Given the description of an element on the screen output the (x, y) to click on. 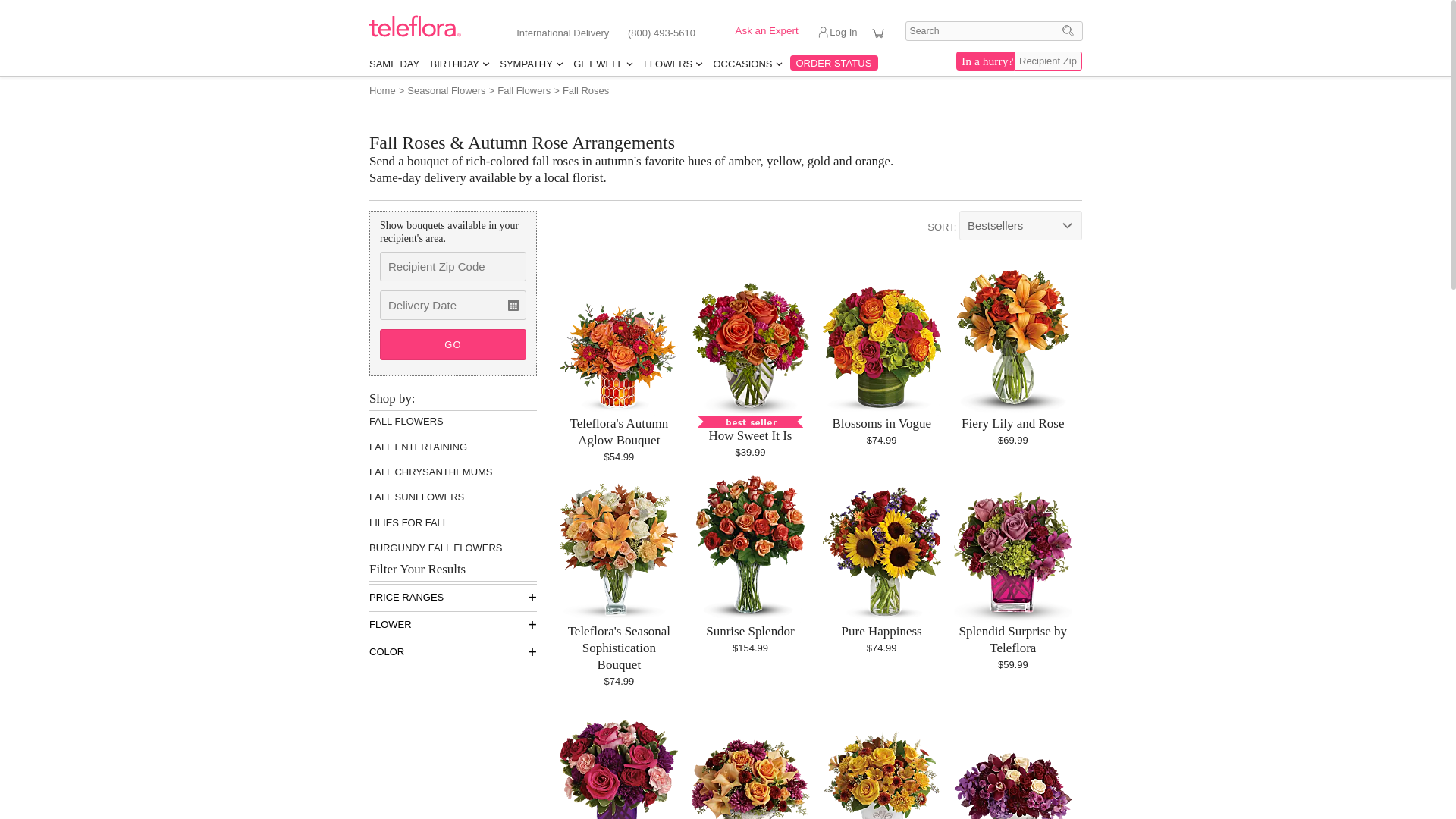
SAME DAY (394, 63)
BIRTHDAY (459, 63)
Go (1067, 30)
SYMPATHY (531, 63)
search (994, 30)
International Delivery (562, 32)
Teleflora logo (415, 33)
International Delivery (562, 32)
Ask an Expert (758, 31)
Log In (844, 35)
